Given the description of an element on the screen output the (x, y) to click on. 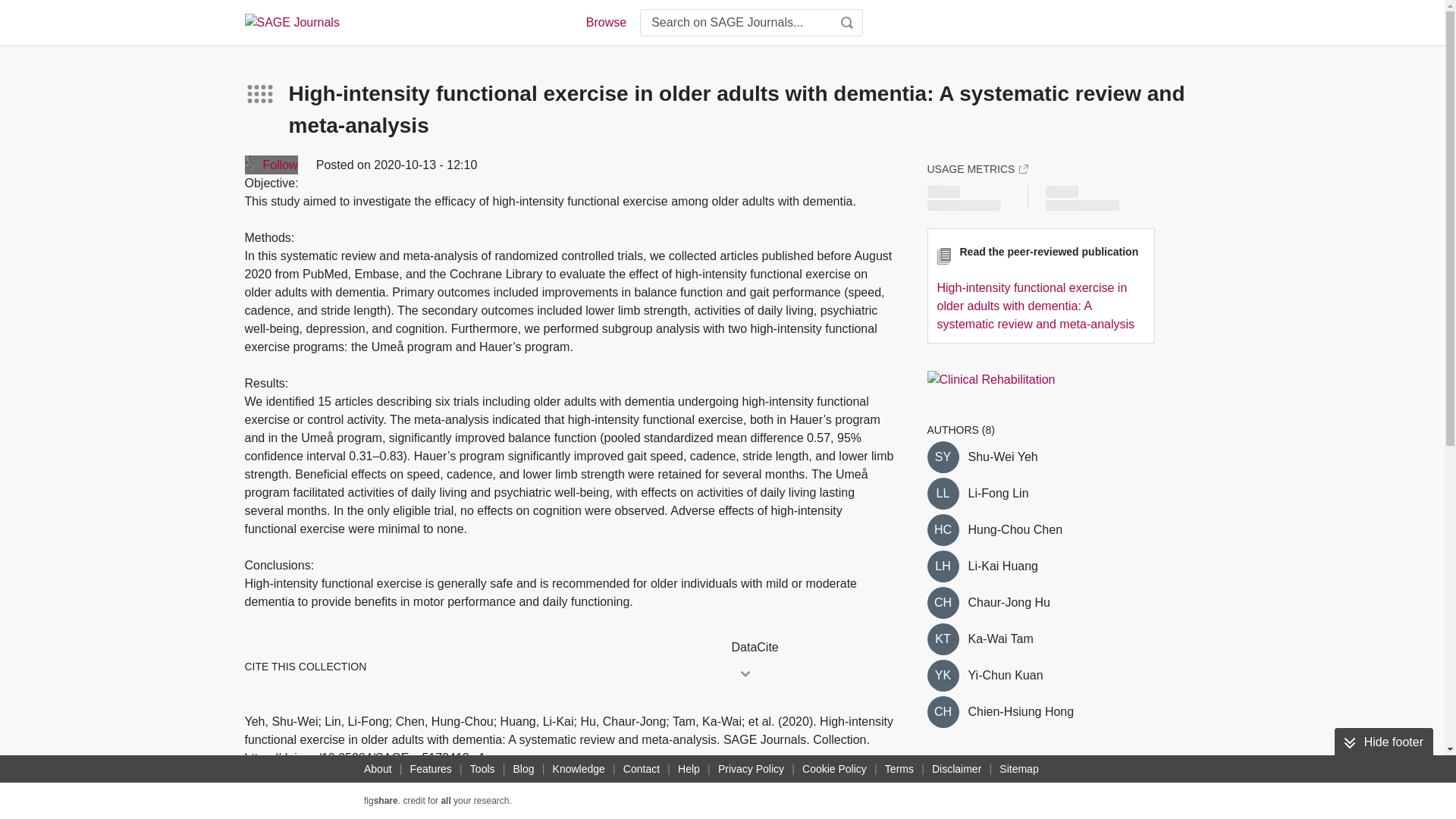
Yi-Chun Kuan (942, 675)
Browse (605, 22)
Neurology and Neuromuscular Diseases (1052, 802)
Hung-Chou Chen (1015, 529)
Clinical Rehabilitation (990, 379)
Chaur-Jong Hu (1008, 602)
Shu-Wei Yeh (942, 457)
Chaur-Jong Hu (942, 603)
Yi-Chun Kuan (1005, 675)
Li-Kai Huang (942, 566)
Li-Fong Lin (997, 493)
Chien-Hsiung Hong (1021, 711)
Chien-Hsiung Hong (942, 712)
Hung-Chou Chen (942, 530)
DataCite (812, 647)
